Given the description of an element on the screen output the (x, y) to click on. 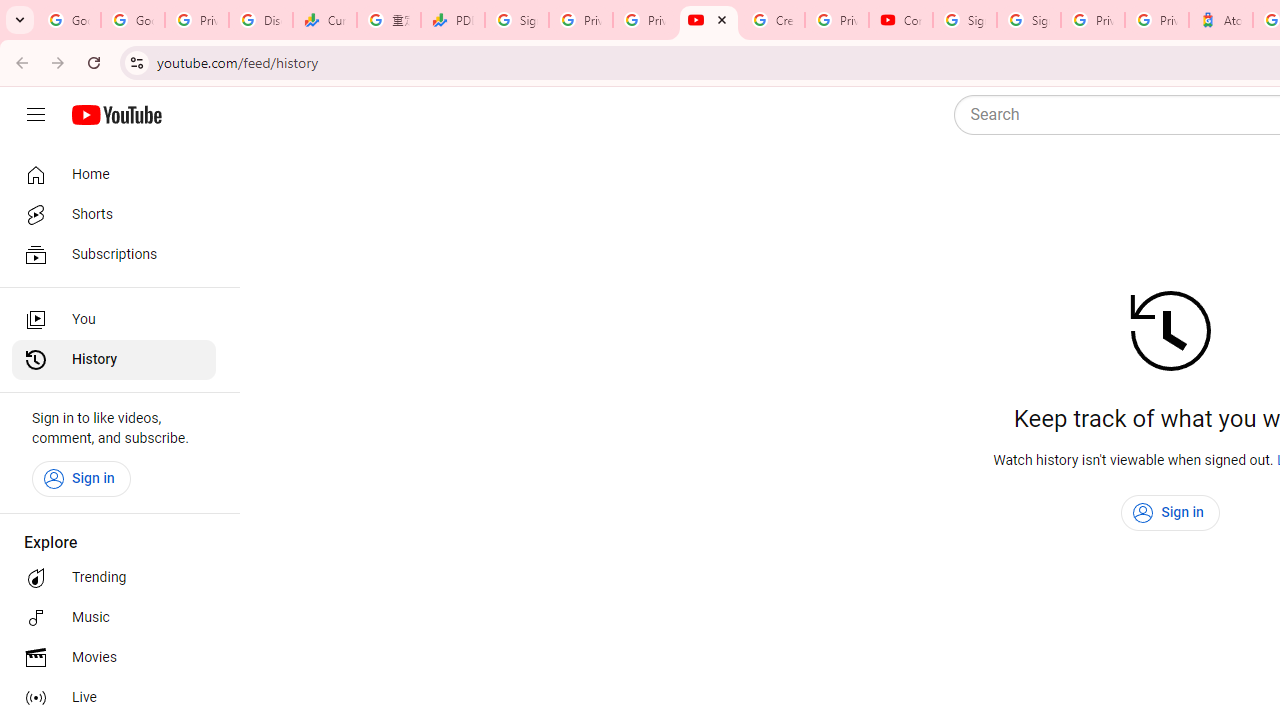
Sign in - Google Accounts (517, 20)
Subscriptions (113, 254)
Movies (113, 657)
Privacy Checkup (645, 20)
Trending (113, 578)
YouTube Home (116, 115)
Currencies - Google Finance (325, 20)
Home (113, 174)
